Given the description of an element on the screen output the (x, y) to click on. 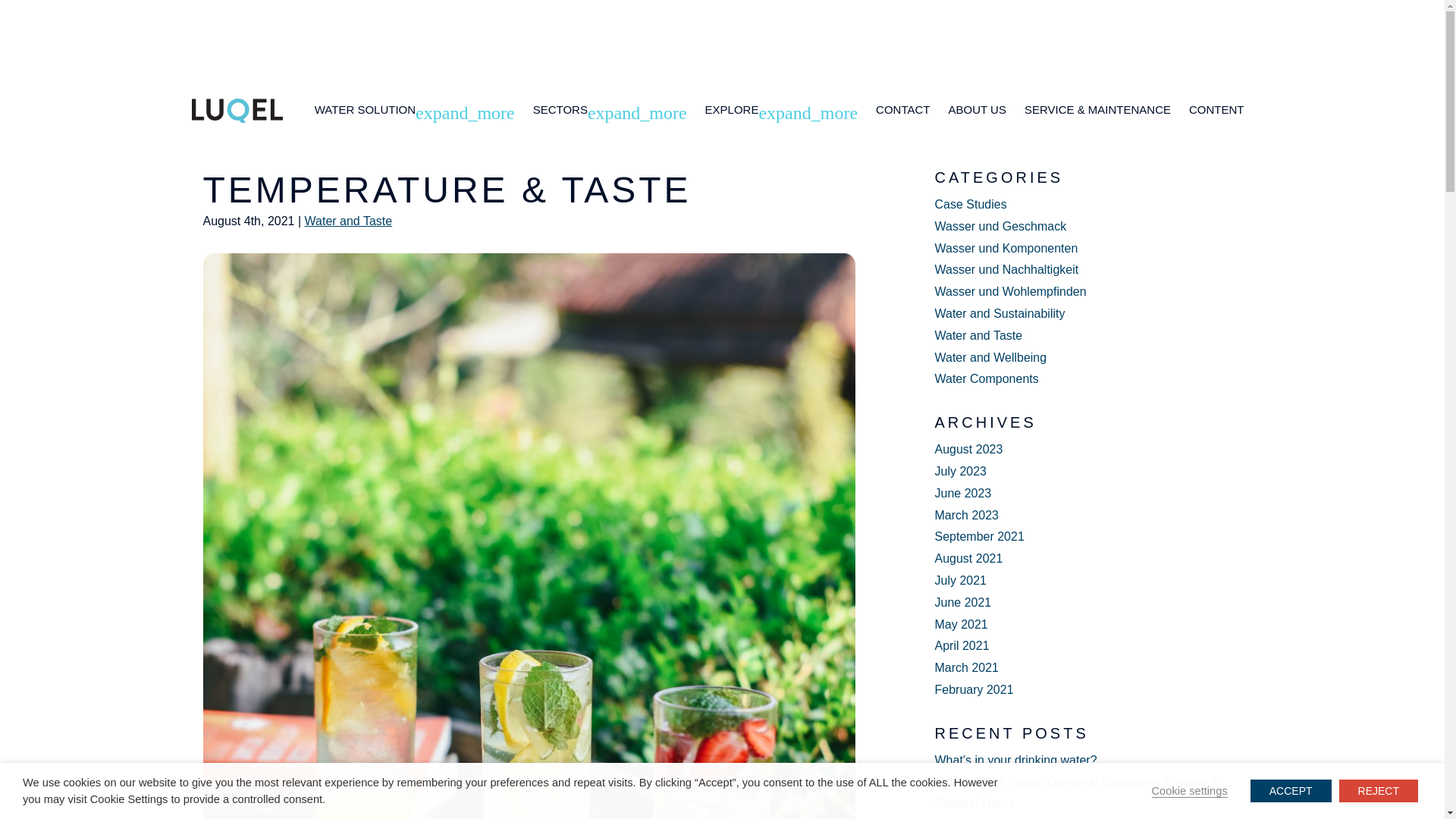
CONTACT (903, 108)
SECTORS (560, 108)
EXPLORE (731, 108)
WATER SOLUTION (364, 108)
CONTENT (1216, 108)
Luqel Water (223, 144)
ABOUT US (976, 108)
